Given the description of an element on the screen output the (x, y) to click on. 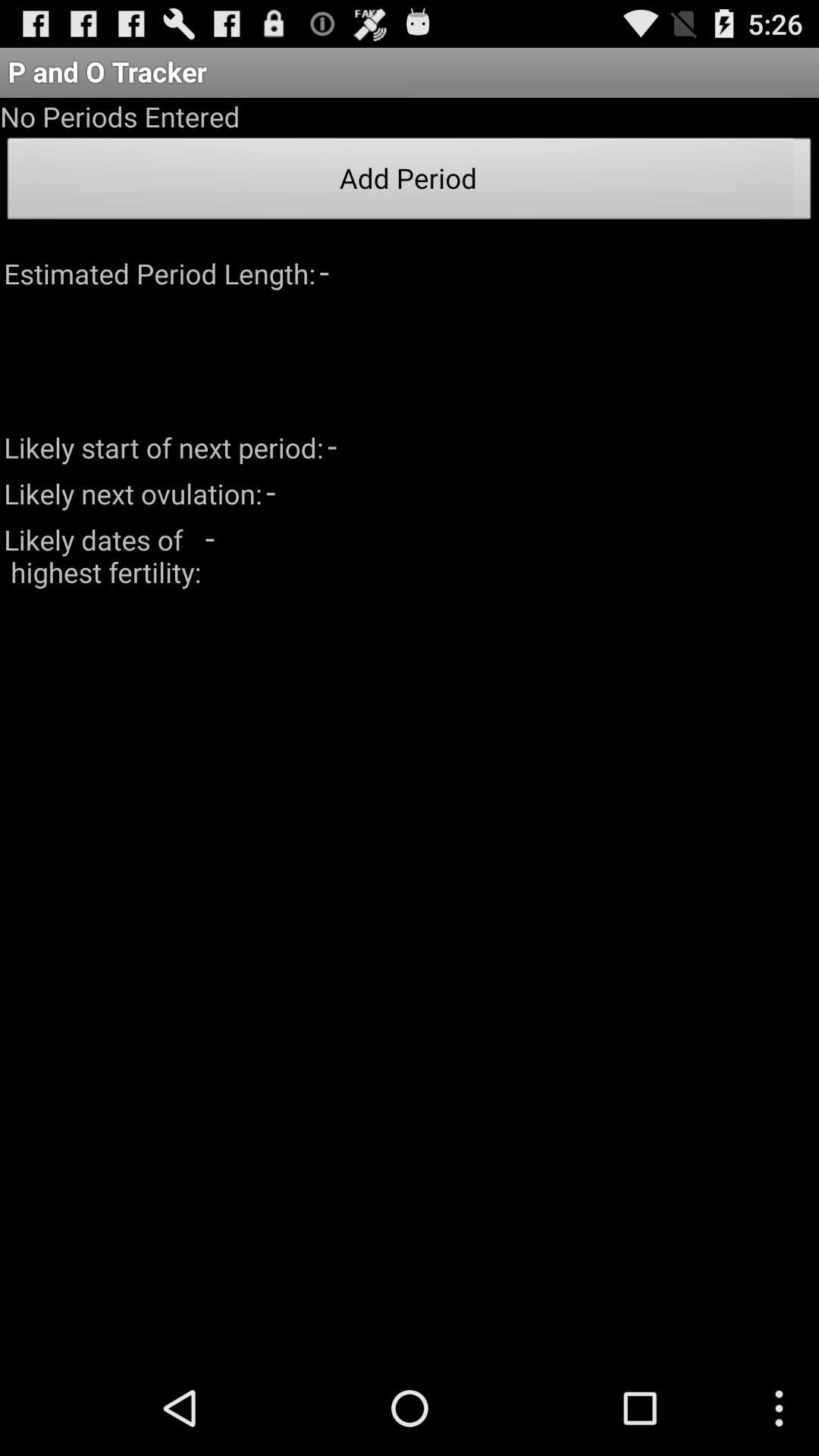
turn off the add period item (409, 182)
